Given the description of an element on the screen output the (x, y) to click on. 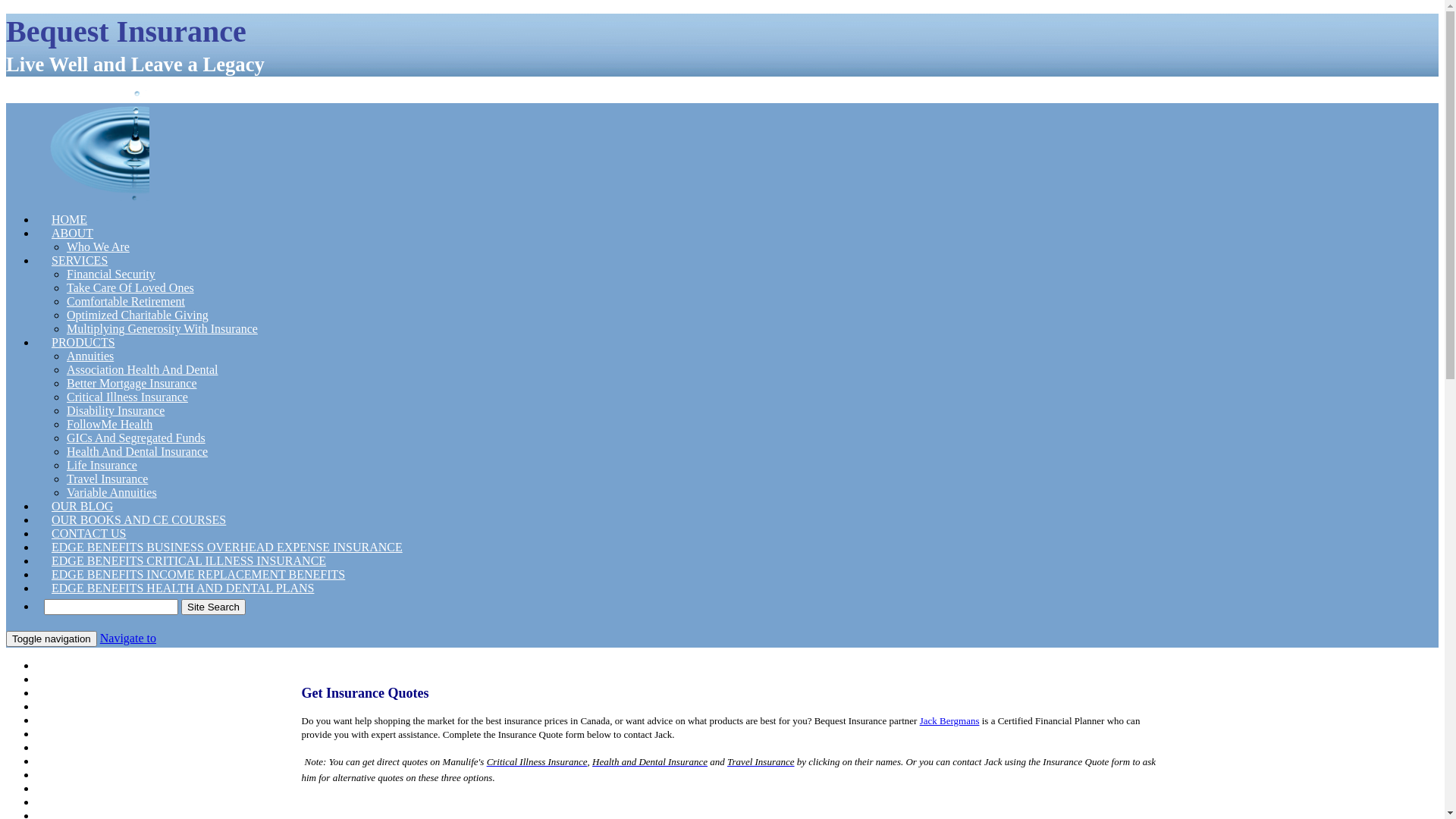
HOME Element type: text (69, 219)
Disability Insurance Element type: text (115, 410)
PRODUCTS Element type: text (83, 342)
FollowMe Health Element type: text (109, 423)
GICs And Segregated Funds Element type: text (135, 437)
Site Search Element type: text (213, 607)
HOME Element type: text (69, 665)
Variable Annuities Element type: text (111, 492)
EDGE BENEFITS BUSINESS OVERHEAD EXPENSE INSURANCE Element type: text (226, 547)
EDGE BENEFITS HEALTH AND DENTAL PLANS Element type: text (182, 588)
SERVICES Element type: text (79, 260)
PRODUCTS Element type: text (83, 788)
Financial Security Element type: text (110, 273)
Take Care Of Loved Ones Element type: text (130, 287)
OUR BOOKS AND CE COURSES Element type: text (138, 519)
Optimized Charitable Giving Element type: text (137, 314)
Travel Insurance Element type: text (760, 761)
Multiplying Generosity With Insurance Element type: text (161, 328)
Toggle navigation Element type: text (51, 638)
EDGE BENEFITS CRITICAL ILLNESS INSURANCE Element type: text (188, 560)
Travel Insurance Element type: text (106, 478)
ABOUT Element type: text (72, 679)
SERVICES Element type: text (79, 706)
Better Mortgage Insurance Element type: text (131, 382)
Who We Are Element type: text (97, 246)
Critical Illness Insurance Element type: text (536, 761)
Association Health And Dental Element type: text (142, 369)
Health and Dental Insurance Element type: text (649, 761)
OUR BLOG Element type: text (82, 506)
Health And Dental Insurance Element type: text (136, 451)
Jack Bergmans Element type: text (949, 720)
EDGE BENEFITS INCOME REPLACEMENT BENEFITS Element type: text (198, 574)
Life Insurance Element type: text (101, 464)
Navigate to Element type: text (128, 637)
Annuities Element type: text (89, 355)
CONTACT US Element type: text (88, 533)
ABOUT Element type: text (72, 233)
Critical Illness Insurance Element type: text (127, 396)
Comfortable Retirement Element type: text (125, 300)
